Given the description of an element on the screen output the (x, y) to click on. 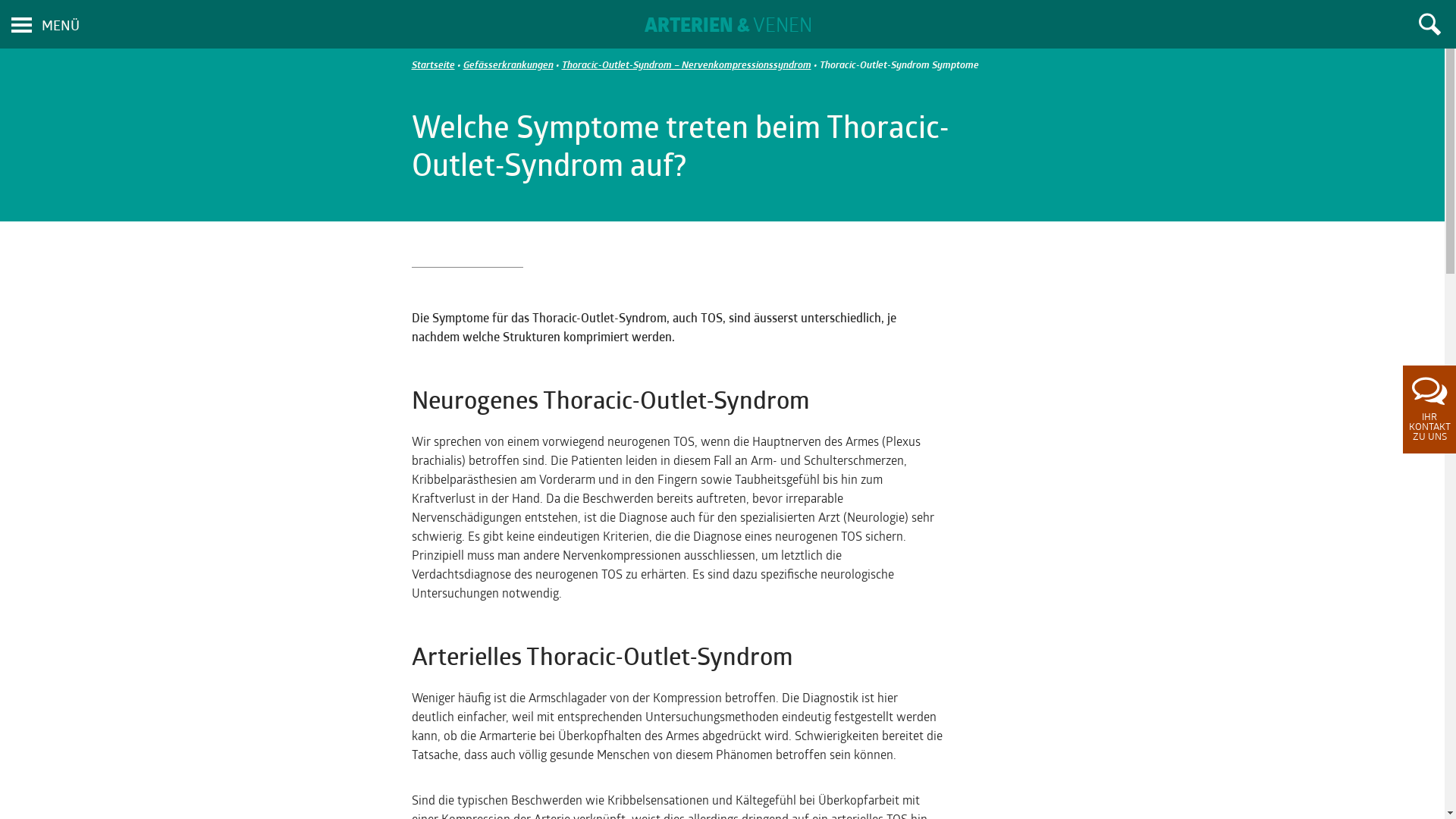
Startseite Element type: text (432, 65)
Search Element type: text (1429, 24)
ARTERIEN & VENEN Element type: text (728, 26)
